Given the description of an element on the screen output the (x, y) to click on. 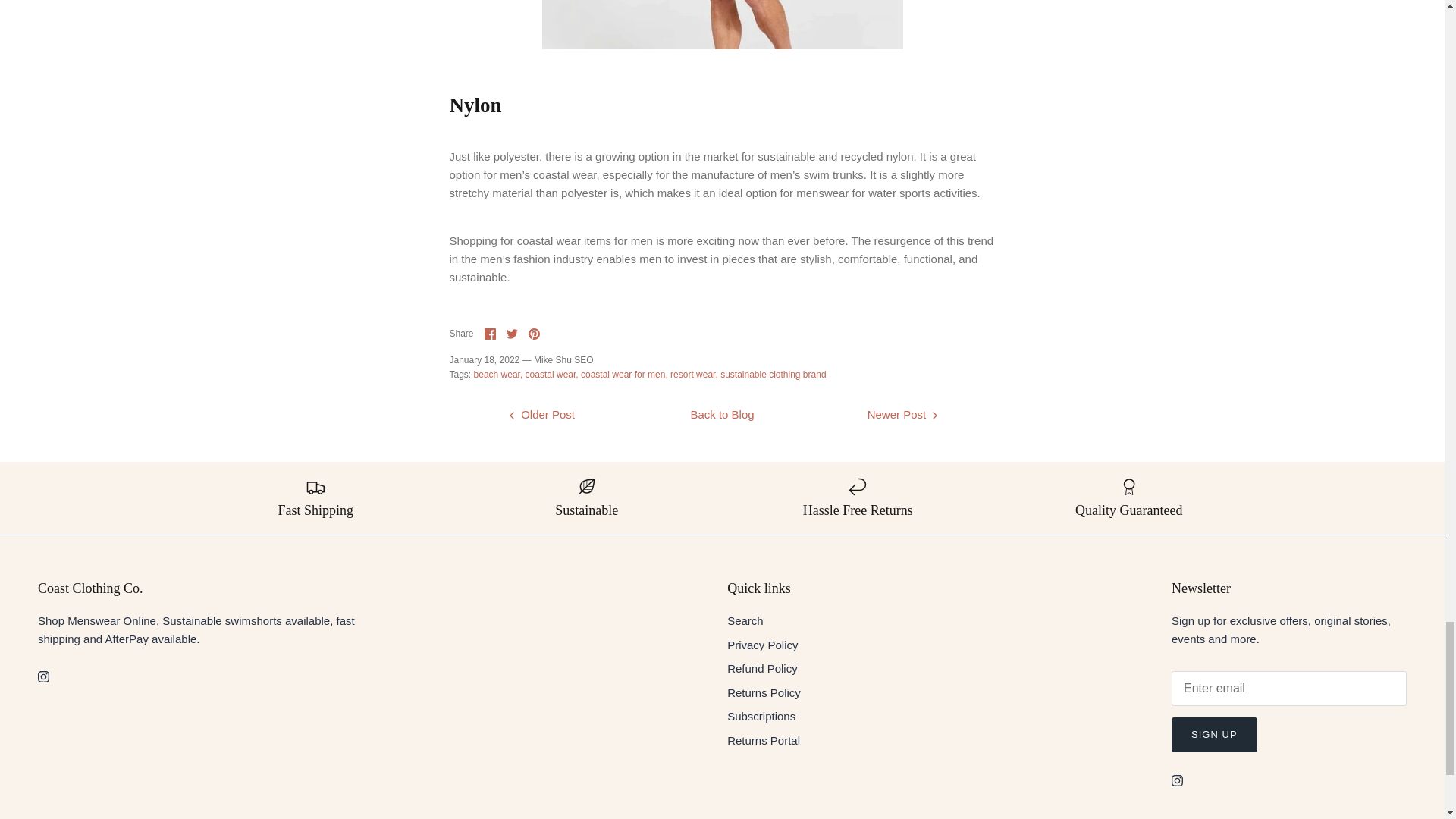
Show articles tagged sustainable clothing brand (772, 374)
Show articles tagged beach wear (498, 374)
Instagram (43, 676)
Right (934, 415)
Show articles tagged coastal wear (551, 374)
Pinterest (534, 333)
Instagram (1177, 780)
Show articles tagged coastal wear for men (624, 374)
Left (511, 415)
Facebook (490, 333)
